Given the description of an element on the screen output the (x, y) to click on. 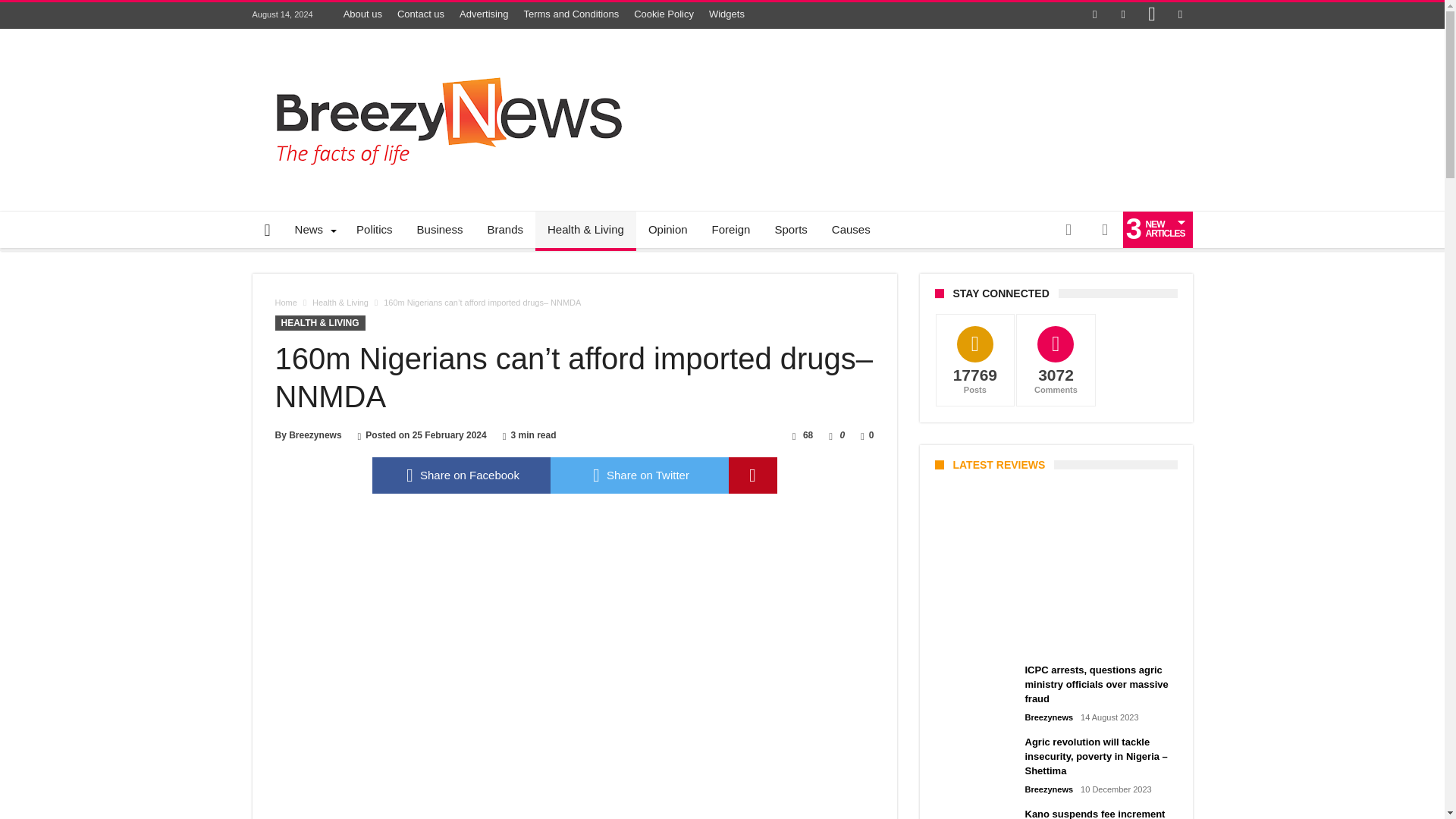
Breezynews (314, 435)
facebook (460, 475)
Business (440, 229)
Sports (789, 229)
Random Article (1067, 229)
Contact us (420, 14)
Twitter (1122, 15)
Widgets (726, 14)
Causes (850, 229)
Foreign (731, 229)
